Given the description of an element on the screen output the (x, y) to click on. 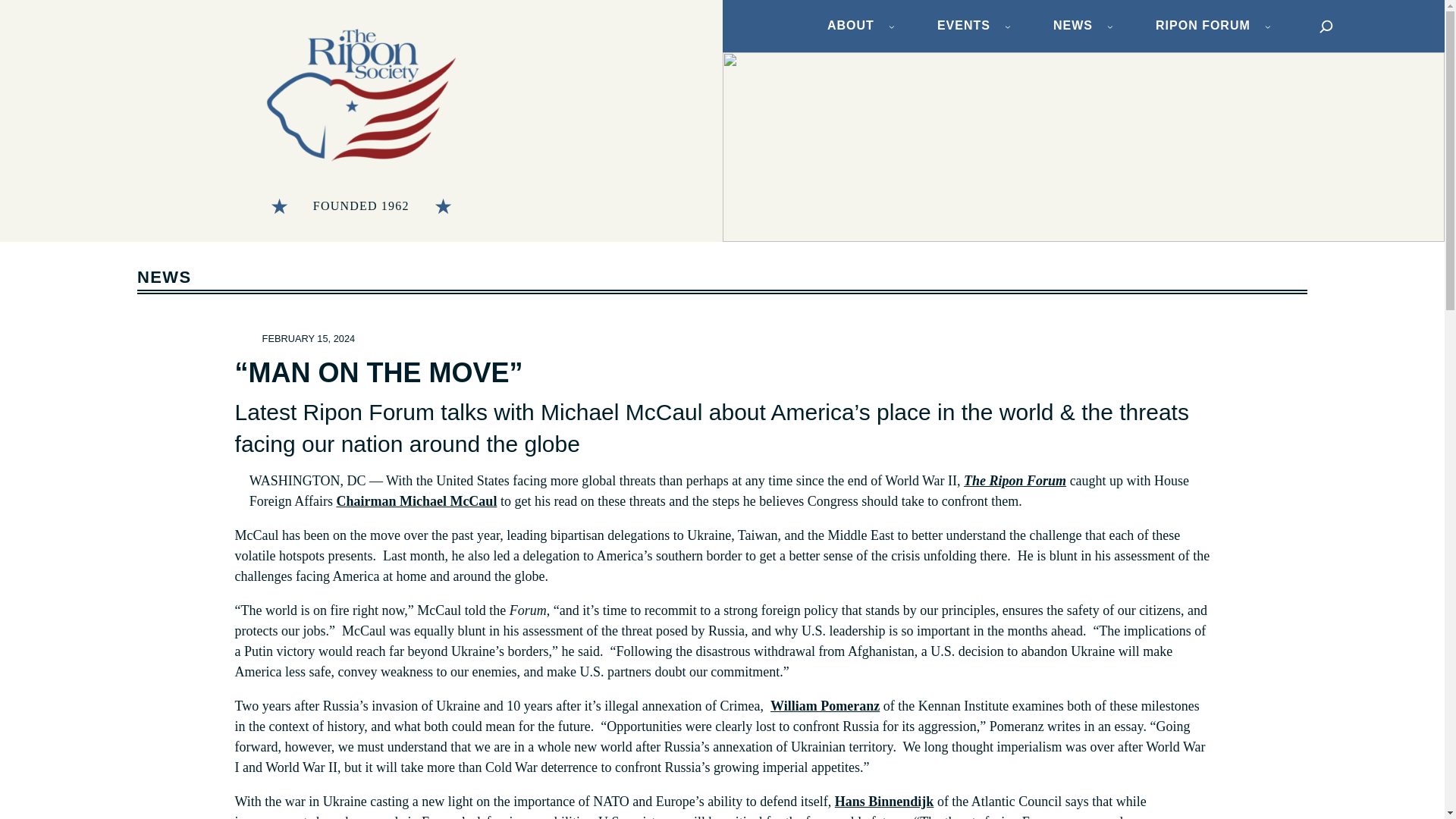
ABOUT (850, 25)
